Given the description of an element on the screen output the (x, y) to click on. 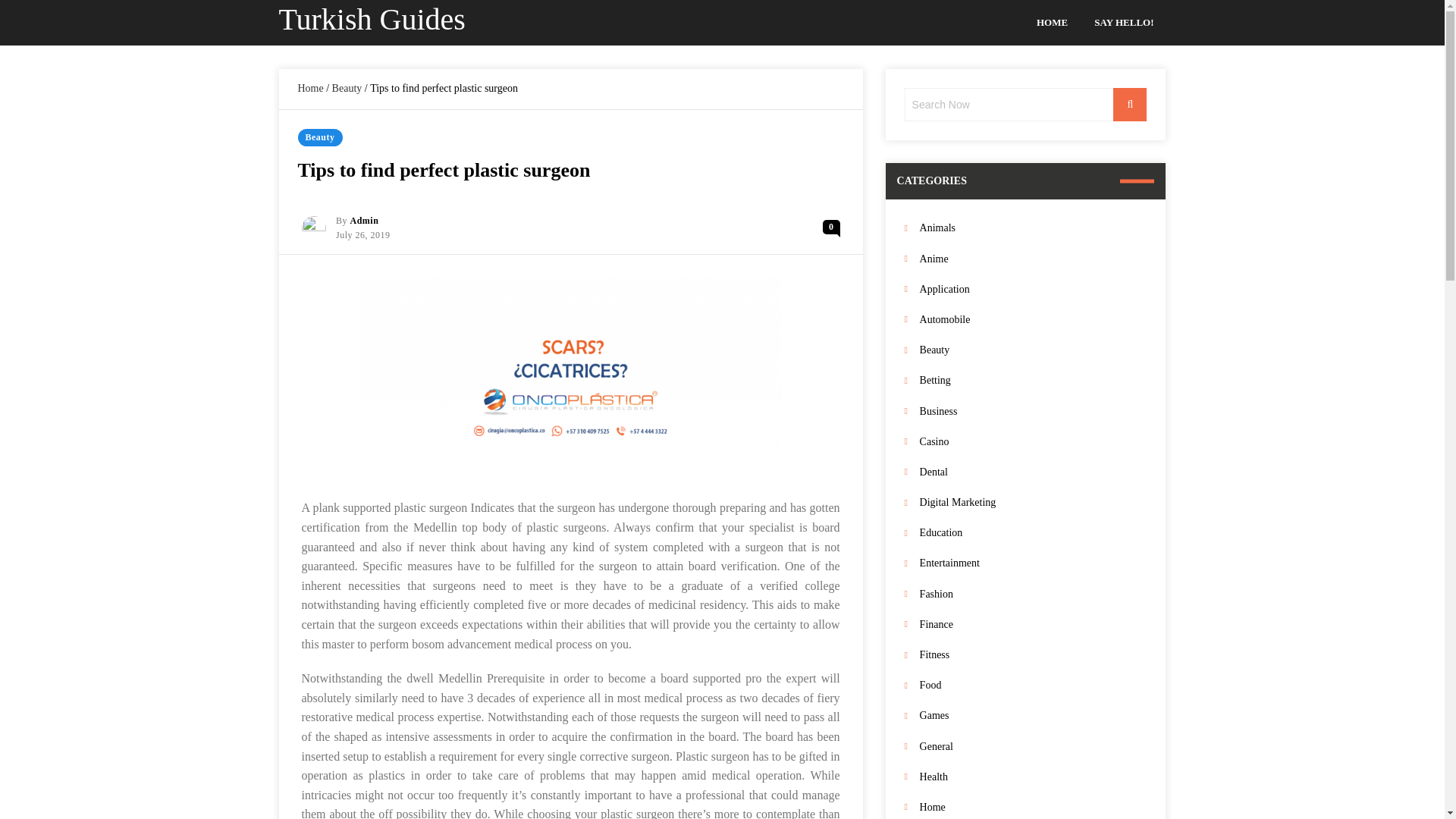
Admin (364, 220)
Posts by admin (364, 220)
Application (1033, 289)
July 26, 2019 (363, 235)
Search (1130, 104)
Turkish Guides (372, 19)
Animals (1033, 227)
SAY HELLO! (1123, 22)
0 (831, 227)
View all posts in Beauty (319, 137)
Home (310, 88)
Anime (1033, 258)
Beauty (346, 88)
Beauty (319, 137)
